Given the description of an element on the screen output the (x, y) to click on. 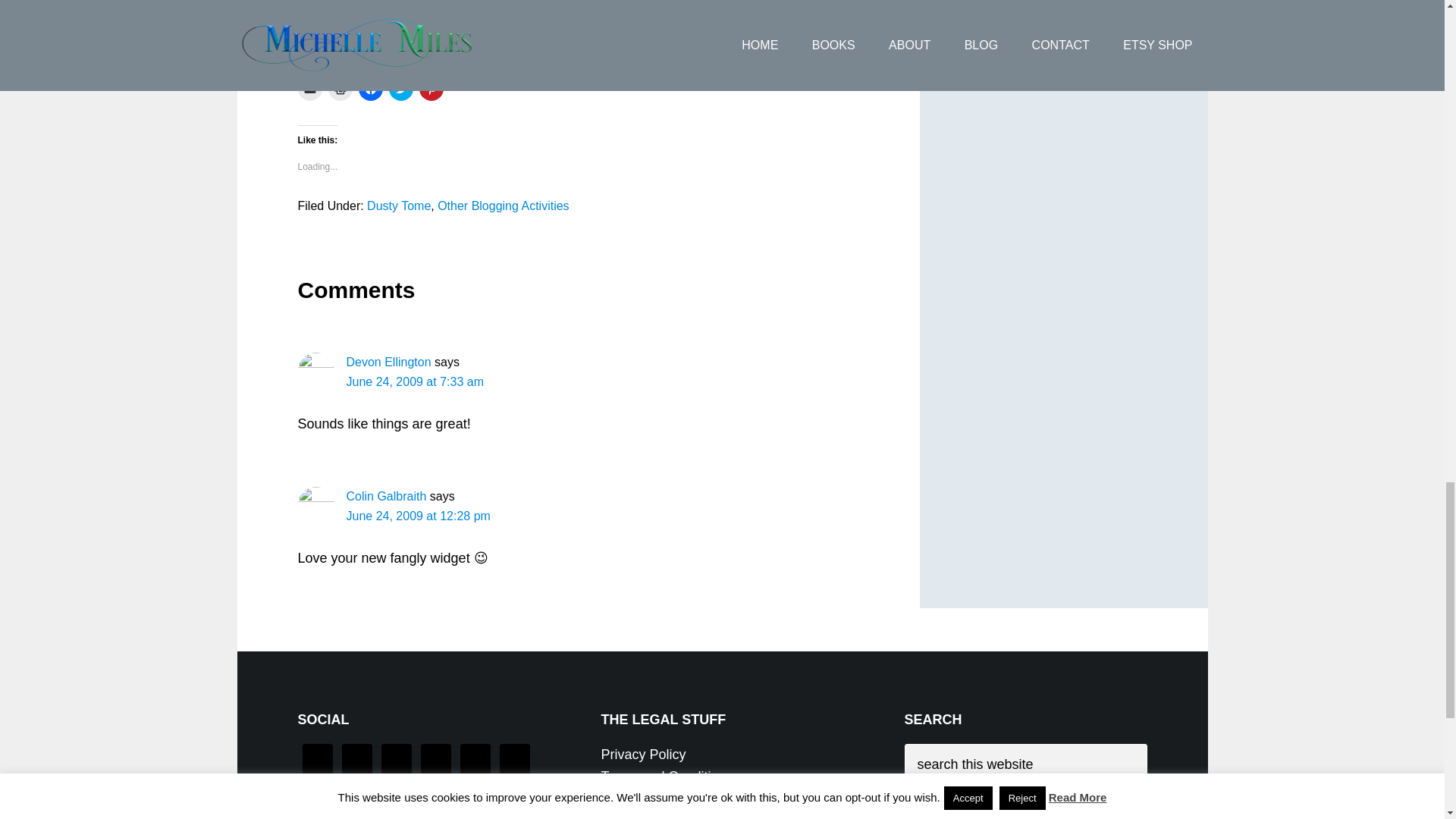
Click to share on Pinterest (430, 88)
Click to share on Facebook (369, 88)
Click to email a link to a friend (309, 88)
Facebook (457, 2)
Digg (805, 2)
Click to print (339, 88)
Del.icio.us (563, 2)
Reddit (350, 2)
Click to share on Twitter (400, 88)
